Given the description of an element on the screen output the (x, y) to click on. 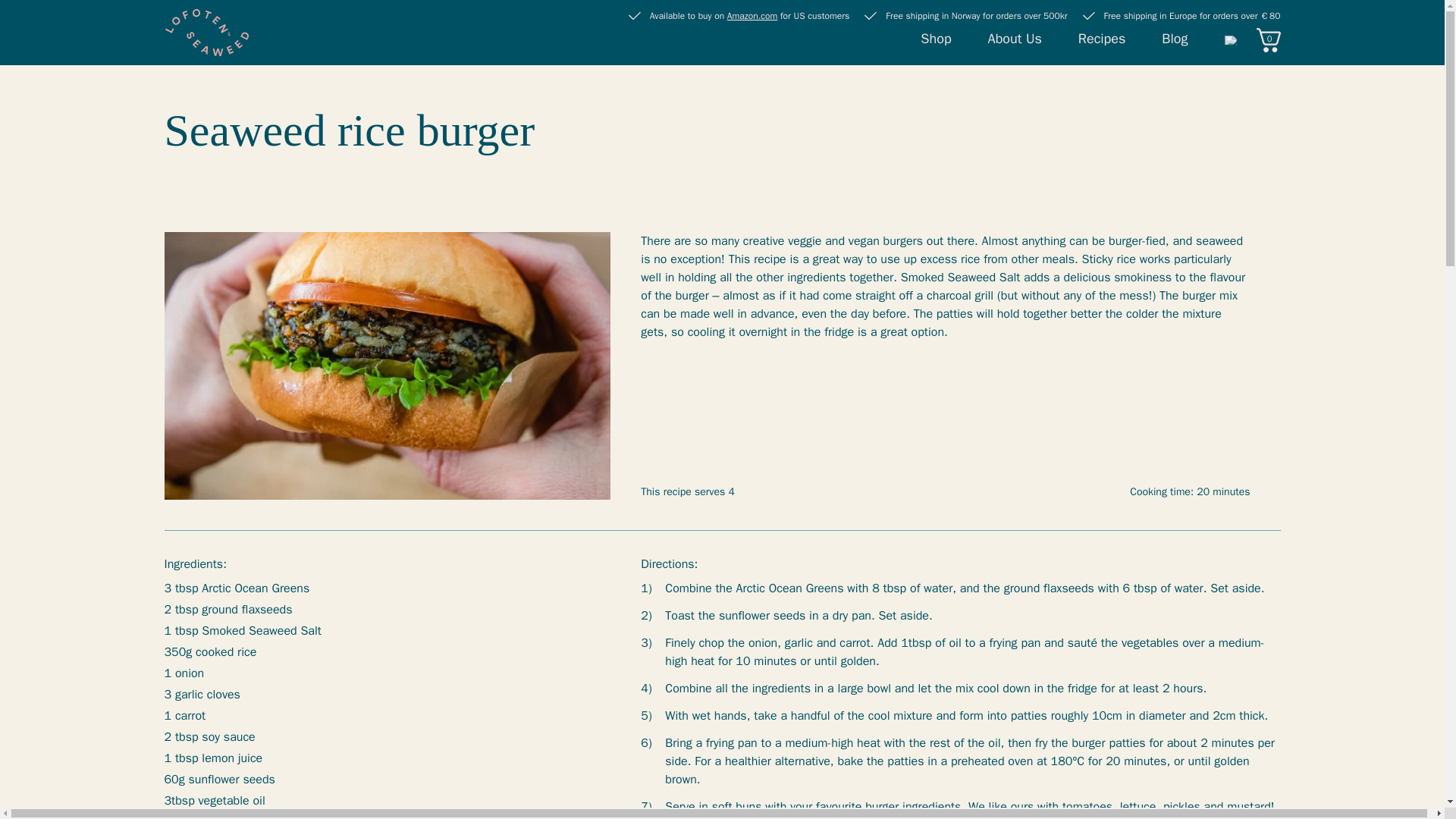
0 (1267, 39)
Blog (1174, 38)
Amazon.com (751, 15)
Shop (935, 38)
About Us (1015, 38)
Recipes (1101, 38)
